Given the description of an element on the screen output the (x, y) to click on. 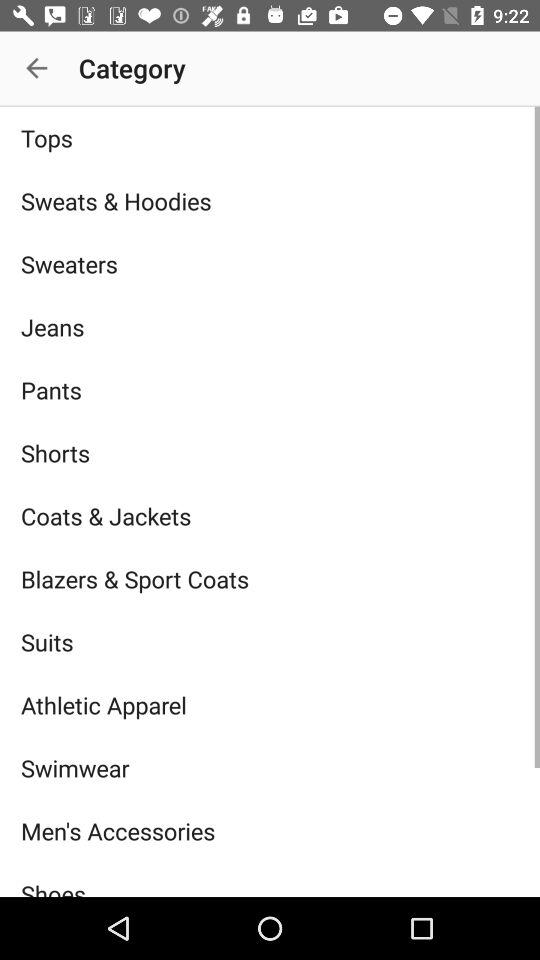
press the suits item (270, 641)
